Given the description of an element on the screen output the (x, y) to click on. 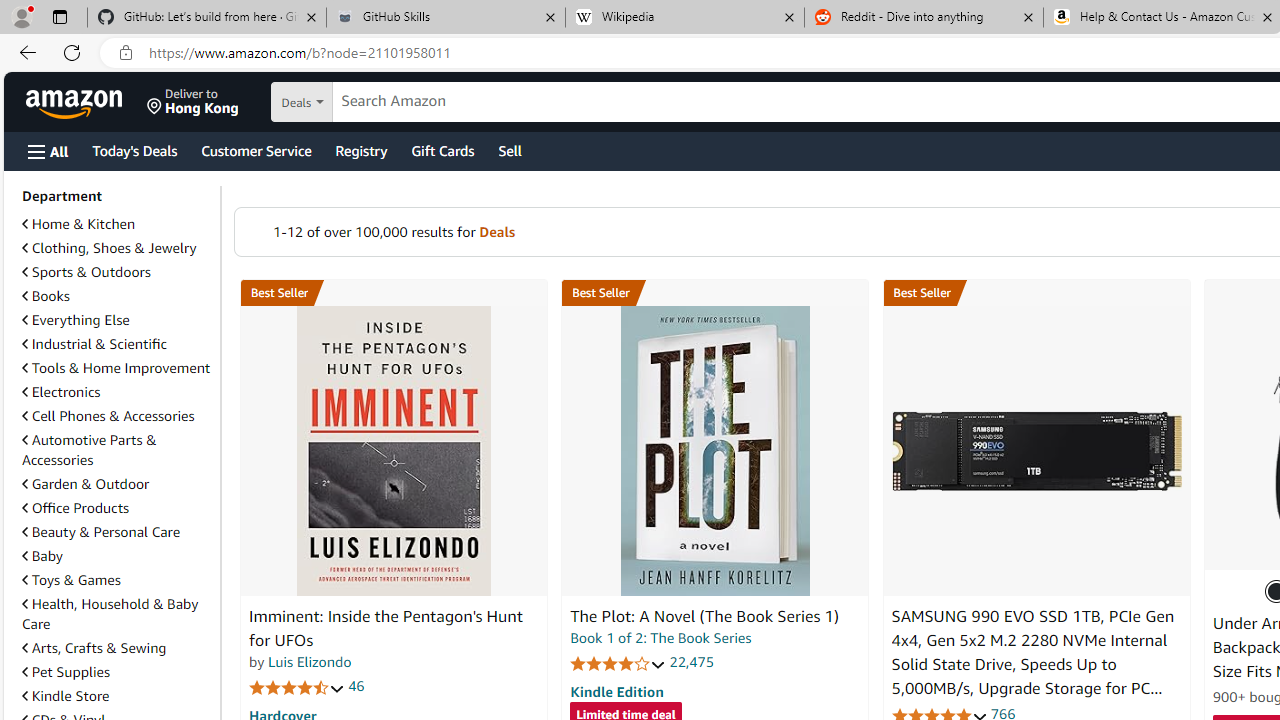
Search in (371, 102)
Pet Supplies (65, 672)
Cell Phones & Accessories (117, 416)
Toys & Games (71, 579)
GitHub Skills (445, 17)
22,475 (691, 662)
Kindle Store (65, 695)
Best Seller in Unexplained Mysteries (393, 293)
Cell Phones & Accessories (107, 415)
Clothing, Shoes & Jewelry (117, 247)
The Plot: A Novel (The Book Series 1) (714, 451)
